Given the description of an element on the screen output the (x, y) to click on. 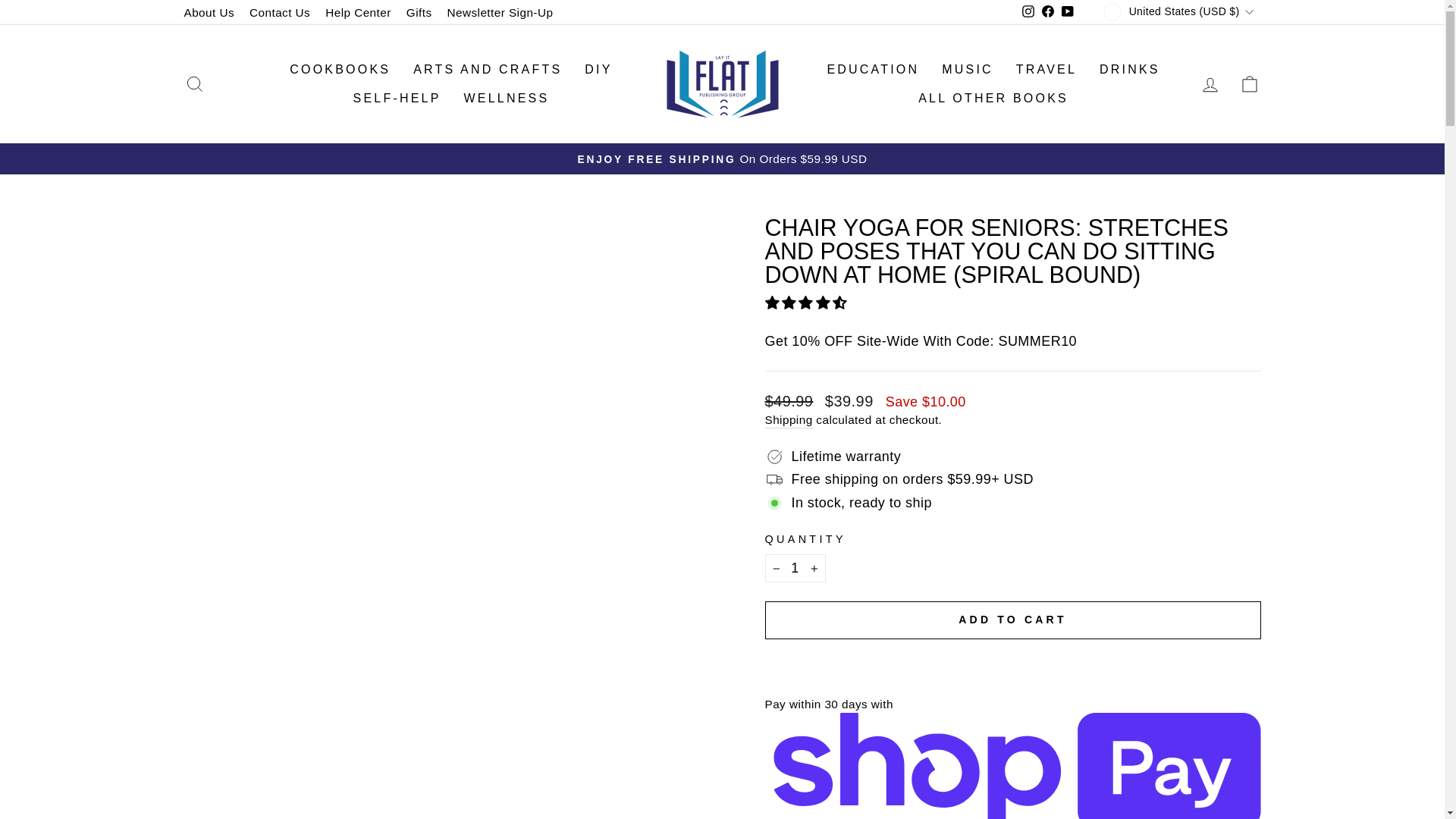
1 (794, 568)
